Given the description of an element on the screen output the (x, y) to click on. 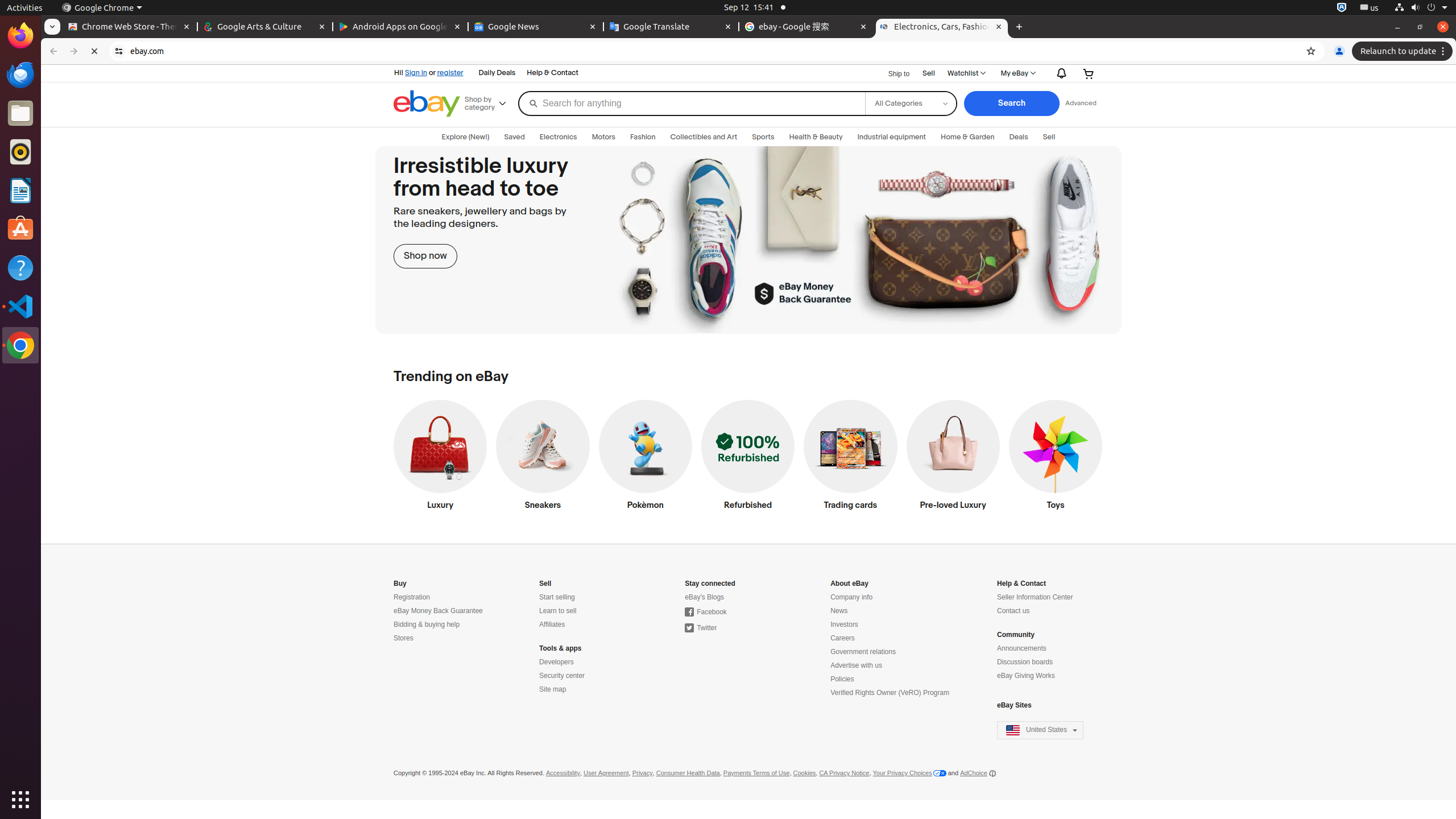
Contact us Element type: link (1013, 610)
Explore (New!) Element type: link (465, 136)
Home & Garden Element type: link (967, 136)
About eBay Element type: link (849, 583)
Visual Studio Code Element type: push-button (20, 306)
